Given the description of an element on the screen output the (x, y) to click on. 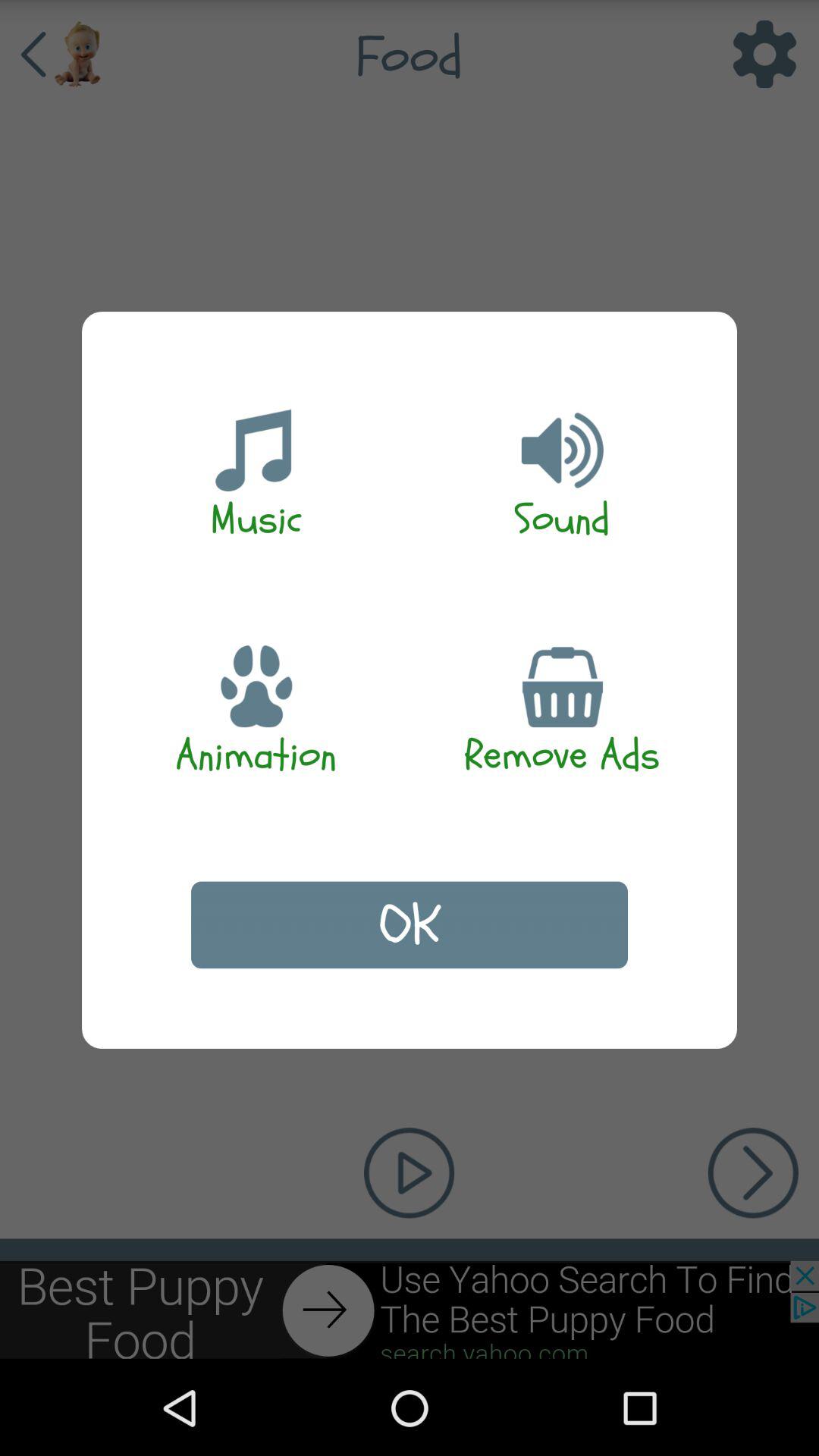
jump to ok icon (409, 924)
